Given the description of an element on the screen output the (x, y) to click on. 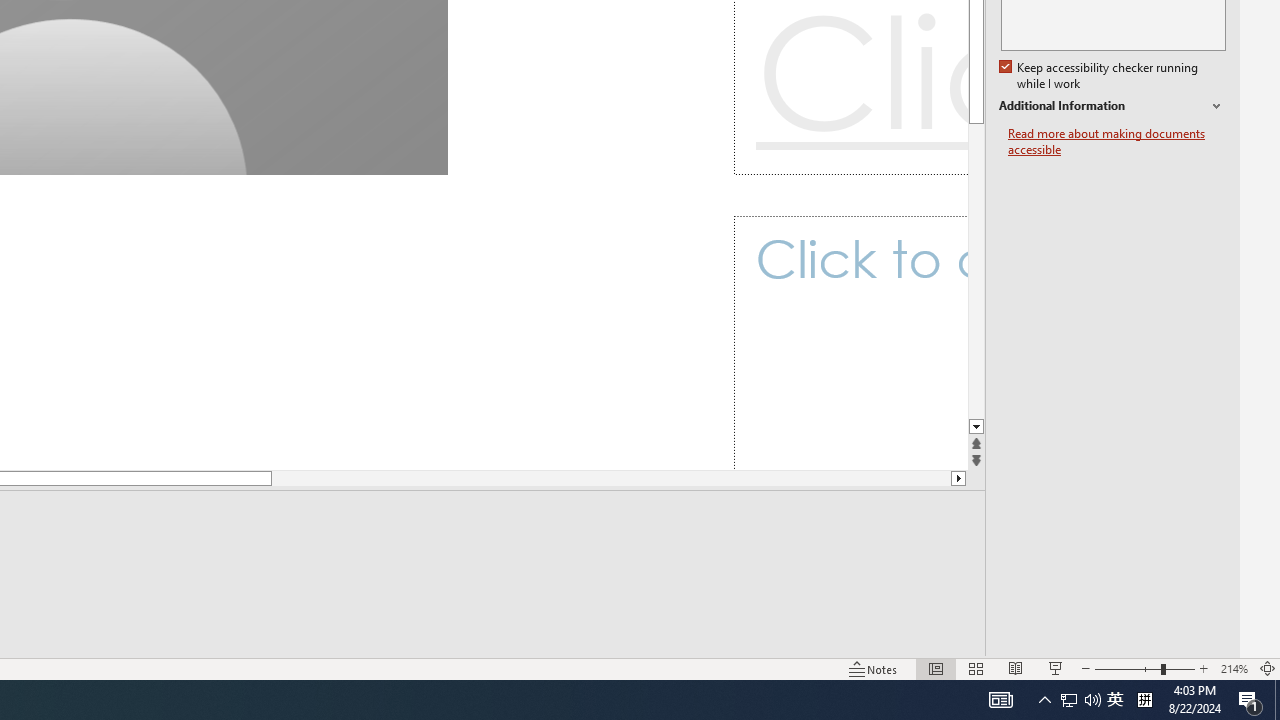
Read more about making documents accessible (1117, 142)
Page down (572, 478)
Keep accessibility checker running while I work (1099, 76)
Additional Information (1112, 106)
Subtitle TextBox (850, 343)
